Given the description of an element on the screen output the (x, y) to click on. 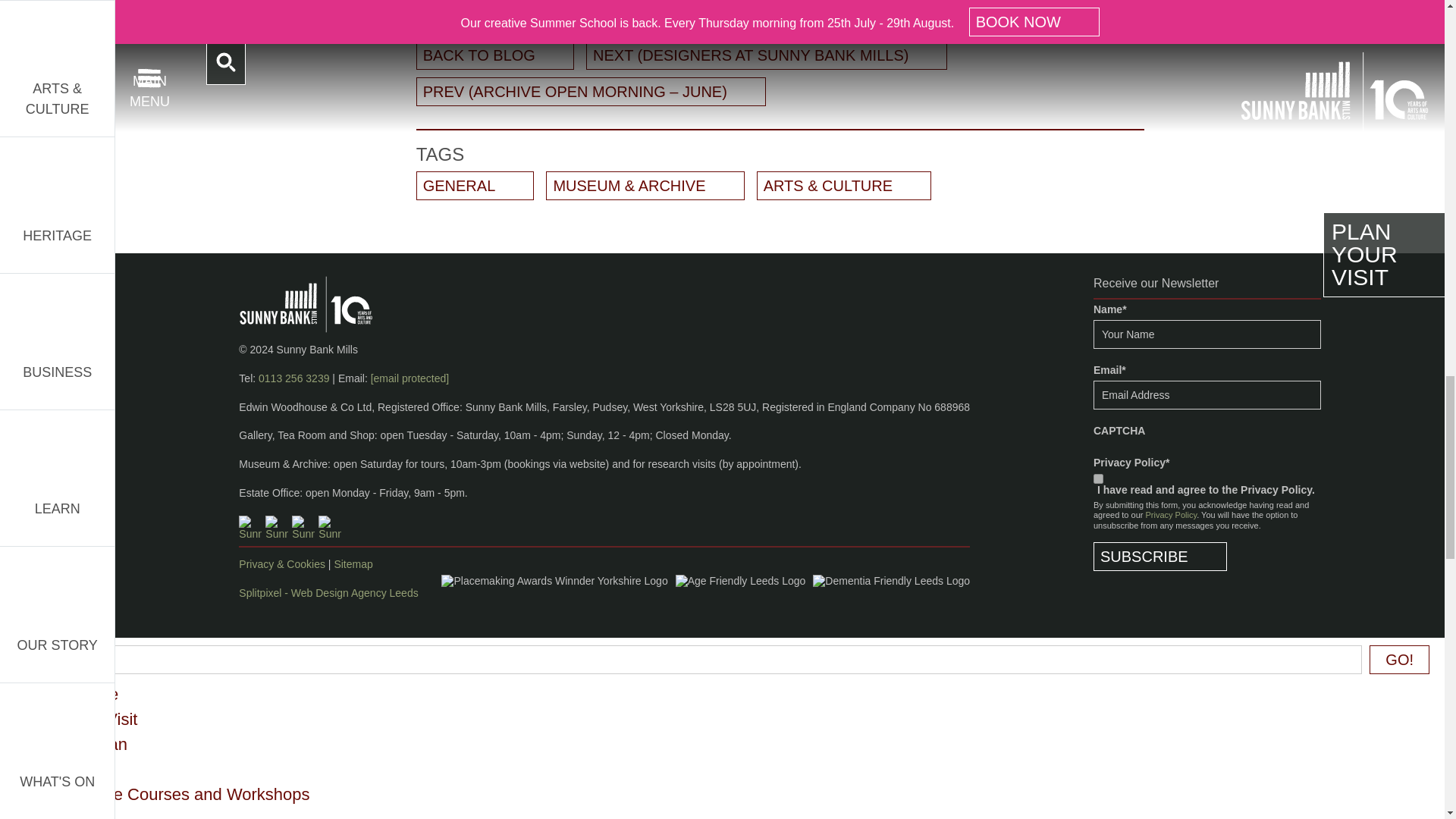
Privacy Policy (1170, 514)
Search for: (703, 659)
Go! (1399, 659)
Plan Your Visit (83, 719)
1 (1098, 479)
Sitemap (352, 563)
0113 256 3239 (294, 378)
GENERAL (475, 185)
Splitpixel - Web Design Agency Leeds (327, 592)
Subscribe (1160, 556)
Subscribe (1160, 556)
Creative Courses and Workshops (185, 793)
Events (86, 814)
Site Plan (94, 743)
Go! (1399, 659)
